Given the description of an element on the screen output the (x, y) to click on. 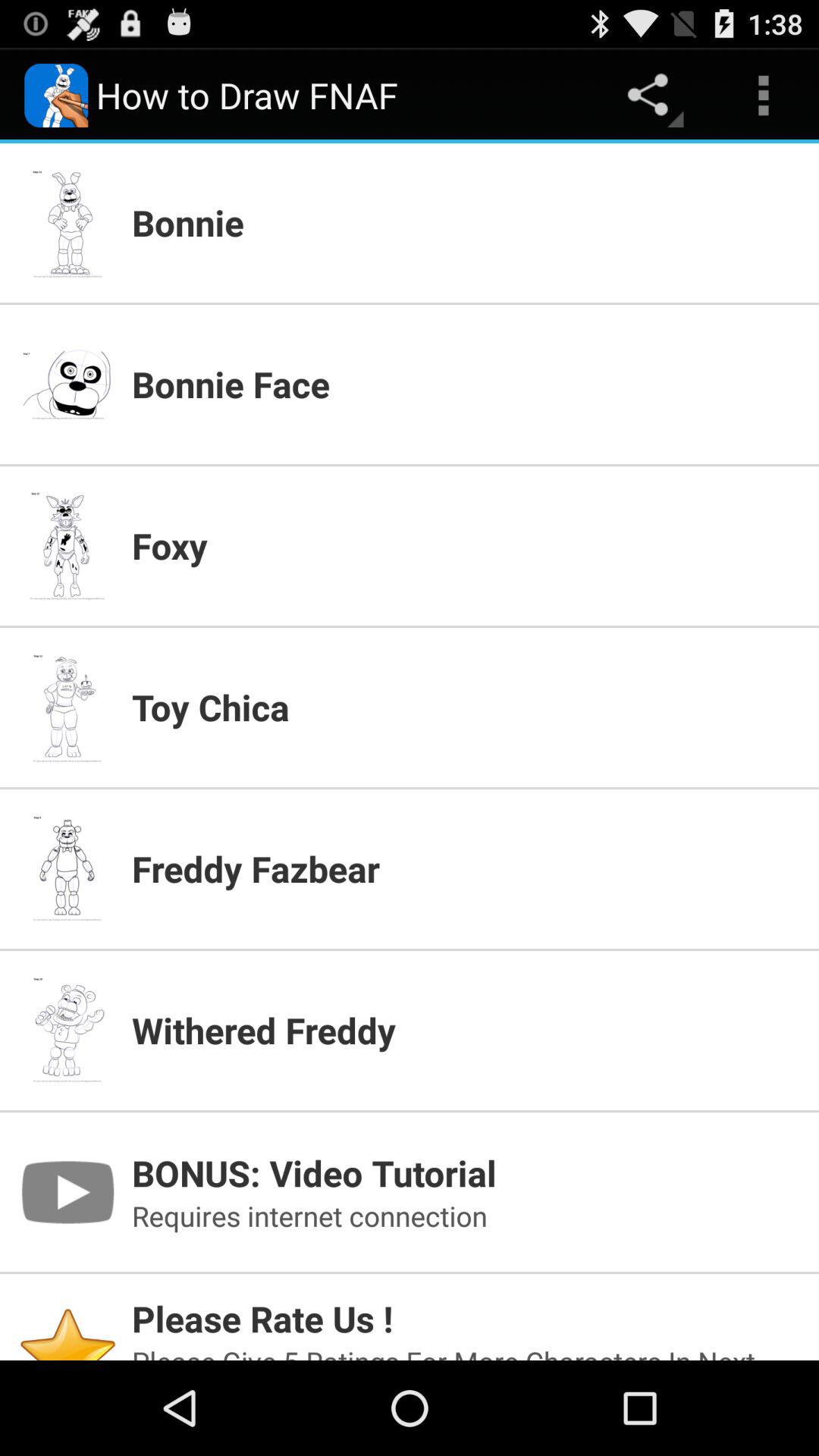
turn off the item above please rate us ! (465, 1215)
